Given the description of an element on the screen output the (x, y) to click on. 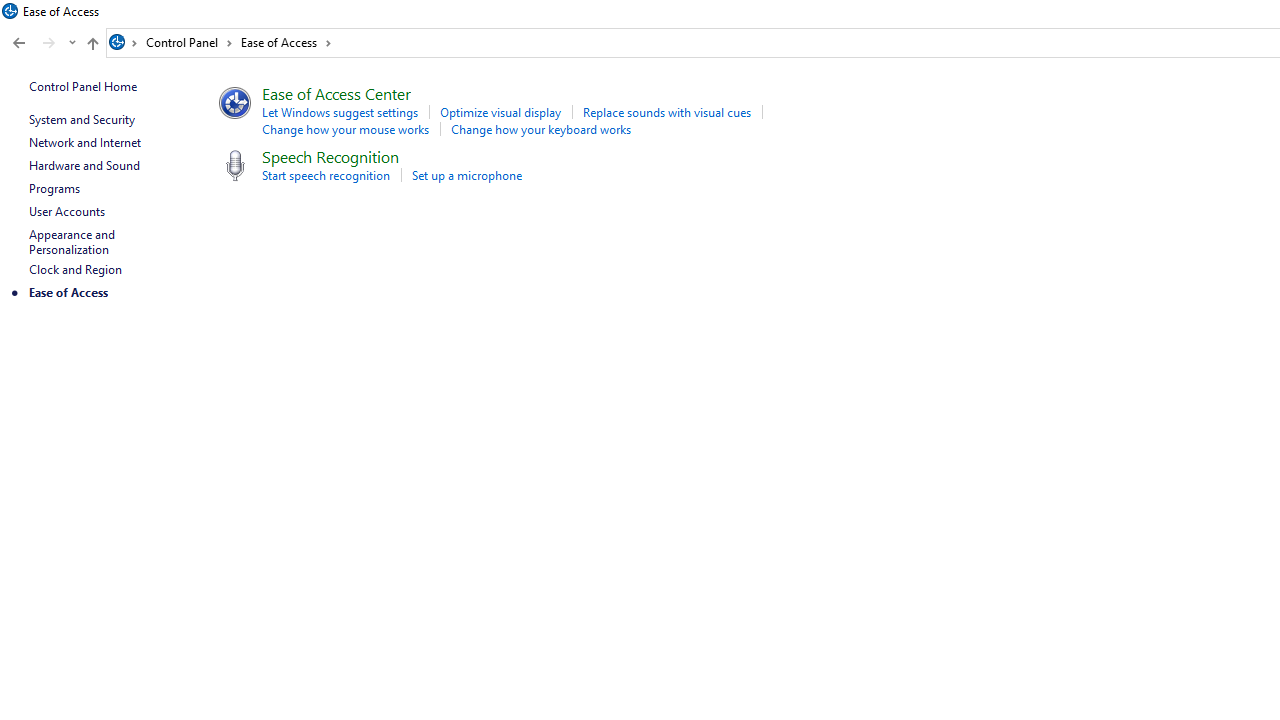
Up to "Control Panel" (Alt + Up Arrow) (92, 43)
Start speech recognition (325, 174)
Change how your keyboard works (541, 128)
Change how your mouse works (345, 128)
Speech Recognition (329, 156)
Ease of Access (285, 42)
Programs (53, 187)
Forward (Alt + Right Arrow) (49, 43)
Navigation buttons (41, 43)
System (10, 11)
Hardware and Sound (84, 164)
Icon (232, 165)
Let Windows suggest settings (339, 112)
System and Security (81, 119)
